Given the description of an element on the screen output the (x, y) to click on. 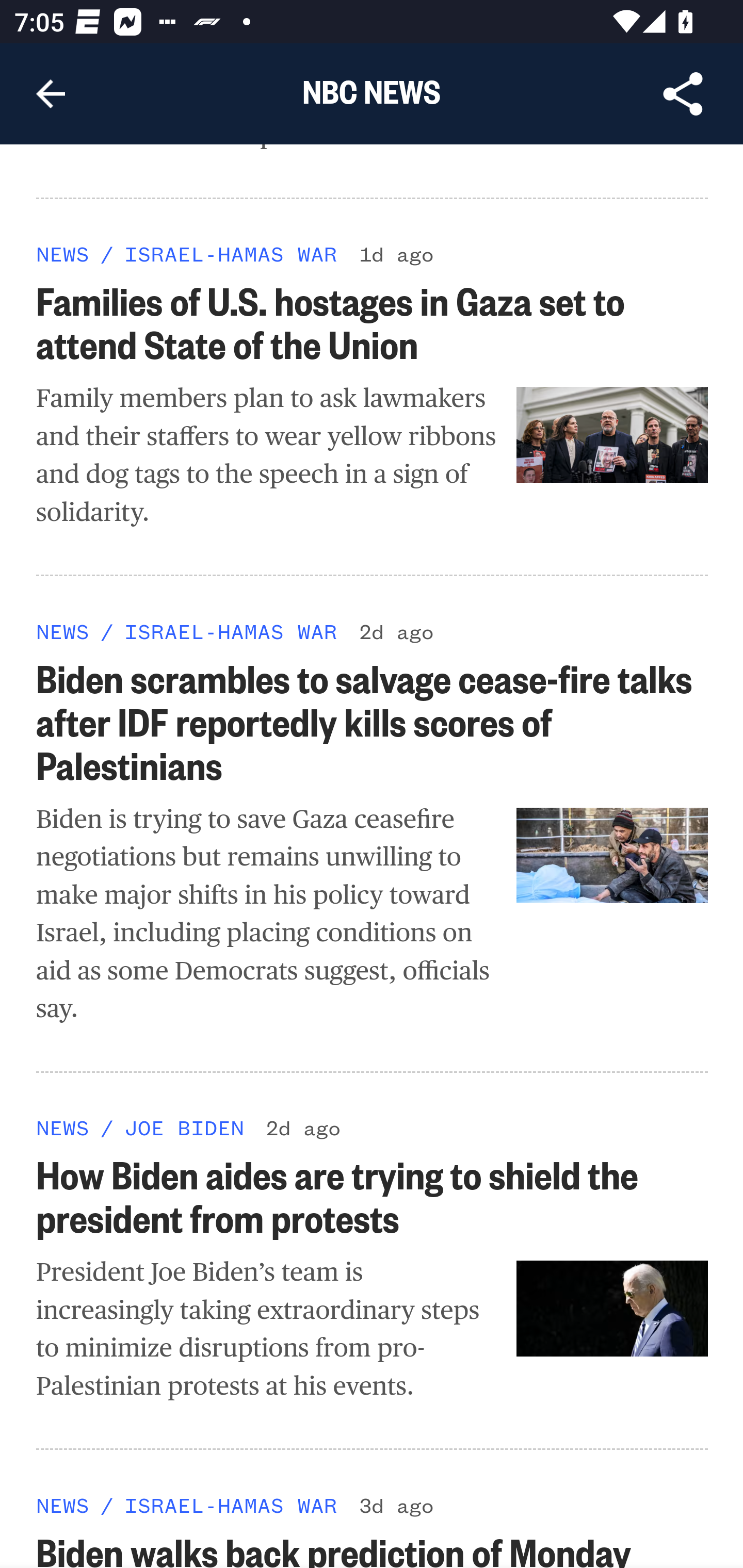
Navigate up (50, 93)
Share Article, button (683, 94)
NEWS NEWS NEWS (63, 254)
ISRAEL-HAMAS WAR ISRAEL-HAMAS WAR ISRAEL-HAMAS WAR (229, 254)
NEWS NEWS NEWS (63, 631)
ISRAEL-HAMAS WAR ISRAEL-HAMAS WAR ISRAEL-HAMAS WAR (229, 631)
NEWS NEWS NEWS (63, 1127)
JOE BIDEN JOE BIDEN JOE BIDEN (183, 1127)
NEWS NEWS NEWS (63, 1504)
ISRAEL-HAMAS WAR ISRAEL-HAMAS WAR ISRAEL-HAMAS WAR (229, 1504)
